Given the description of an element on the screen output the (x, y) to click on. 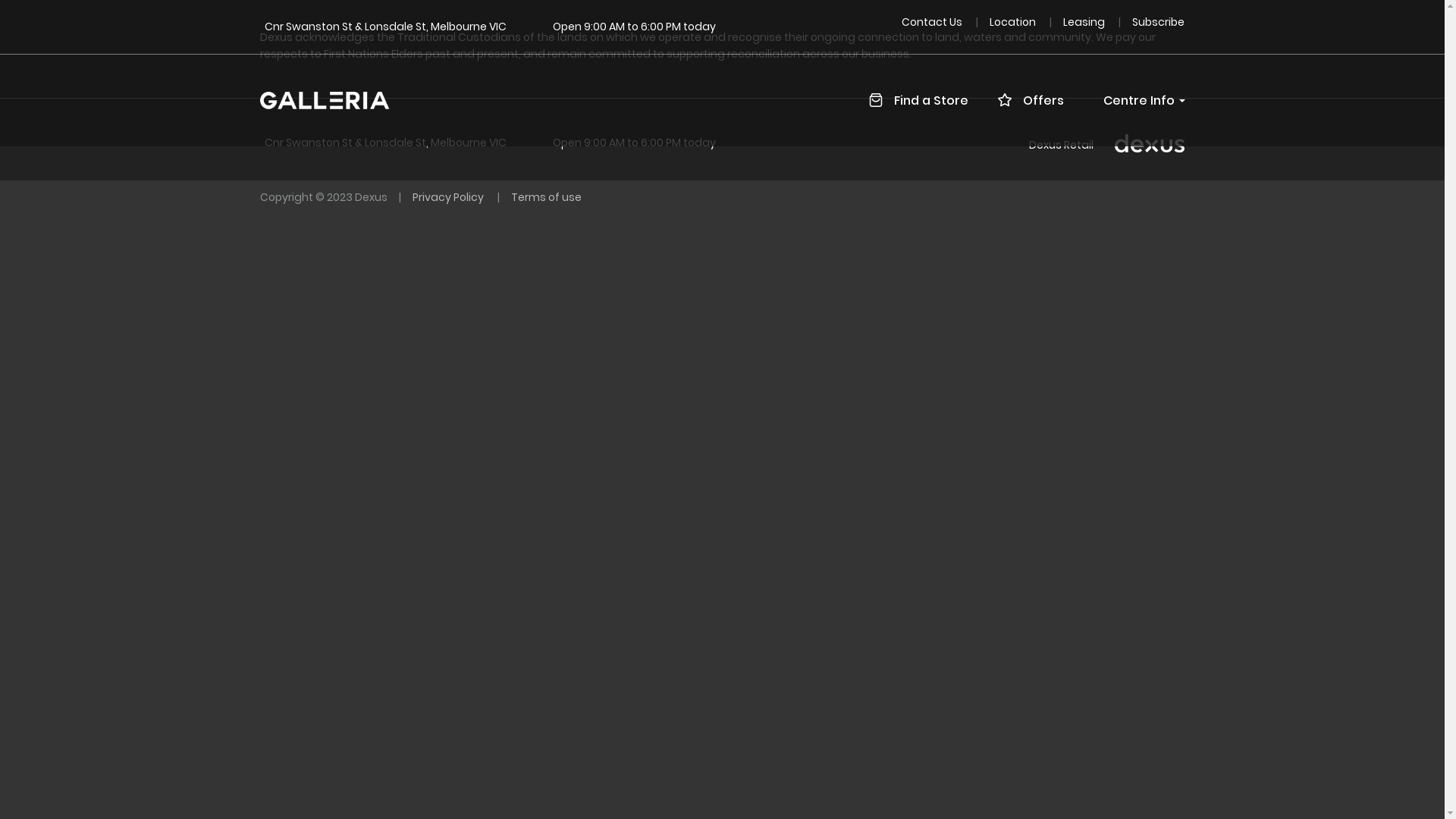
Centre Info Element type: text (1134, 100)
Terms of use Element type: text (546, 196)
Subscribe Element type: text (1158, 21)
Offers Element type: text (1036, 100)
Dexus Retail Element type: text (1061, 144)
Location Element type: text (1013, 21)
Contact Us Element type: text (932, 21)
Open 9:00 AM to 6:00 PM today Element type: text (633, 142)
Privacy Policy Element type: text (449, 196)
Find a Store Element type: text (923, 100)
Open 9:00 AM to 6:00 PM today Element type: text (633, 26)
Cnr Swanston St & Lonsdale St, Melbourne VIC Element type: text (384, 26)
Cnr Swanston St & Lonsdale St, Melbourne VIC Element type: text (384, 142)
Leasing Element type: text (1085, 21)
